Given the description of an element on the screen output the (x, y) to click on. 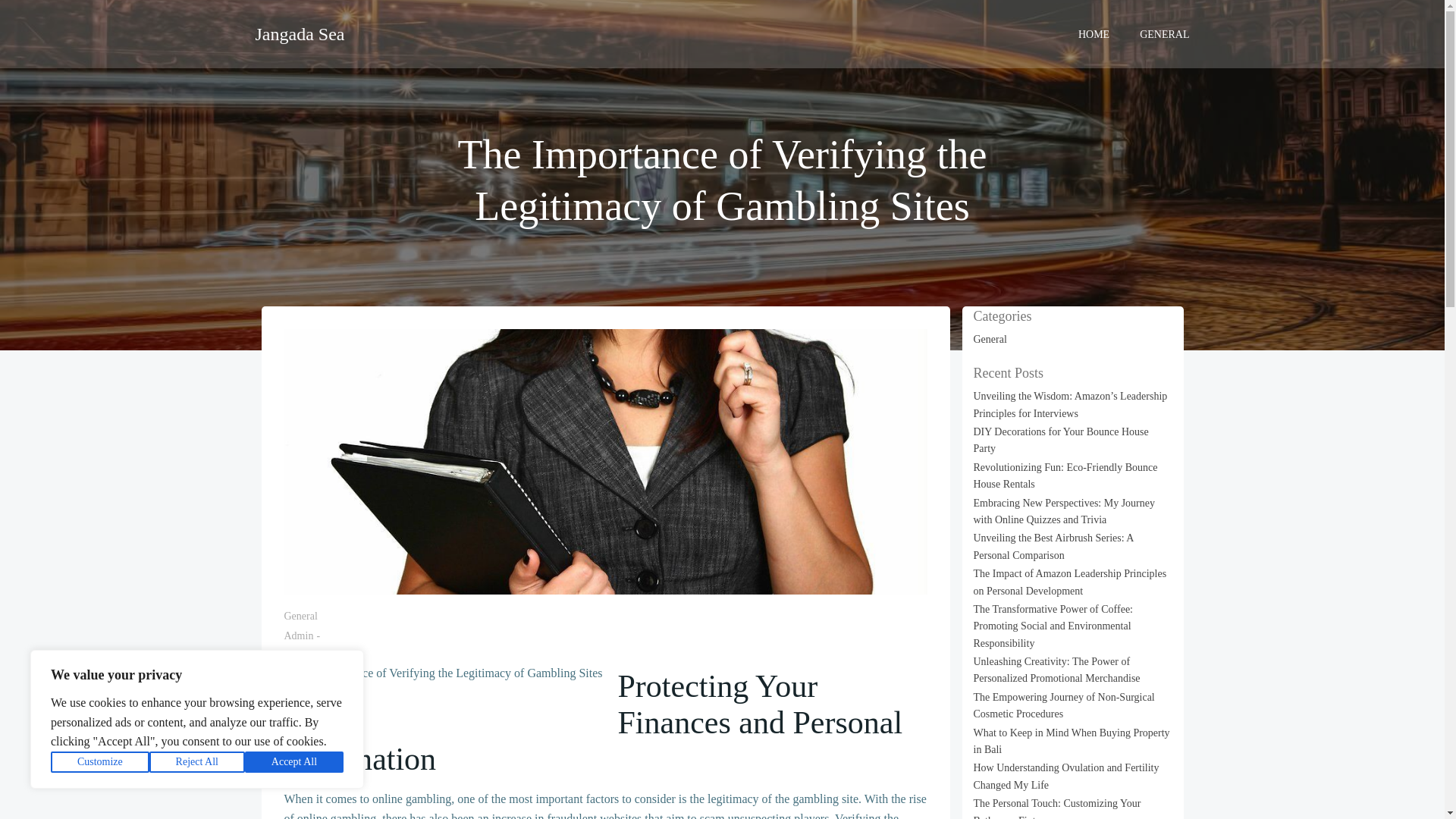
General (990, 338)
Jangada Sea (298, 33)
HOME (1093, 33)
DIY Decorations for Your Bounce House Party (1061, 439)
Reject All (196, 762)
Admin (298, 635)
Revolutionizing Fun: Eco-Friendly Bounce House Rentals (1065, 475)
Customize (99, 762)
